Given the description of an element on the screen output the (x, y) to click on. 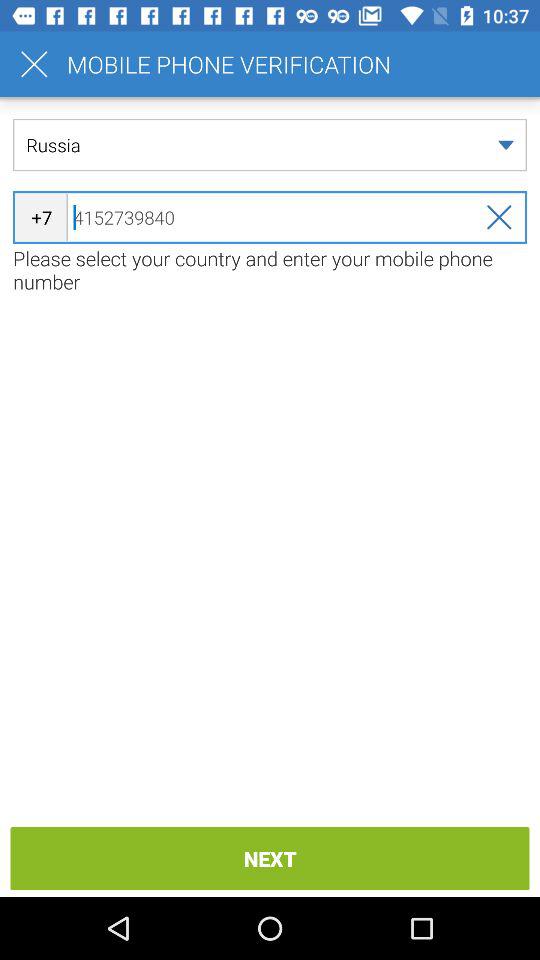
turn off the icon below 4152739840 item (269, 270)
